Given the description of an element on the screen output the (x, y) to click on. 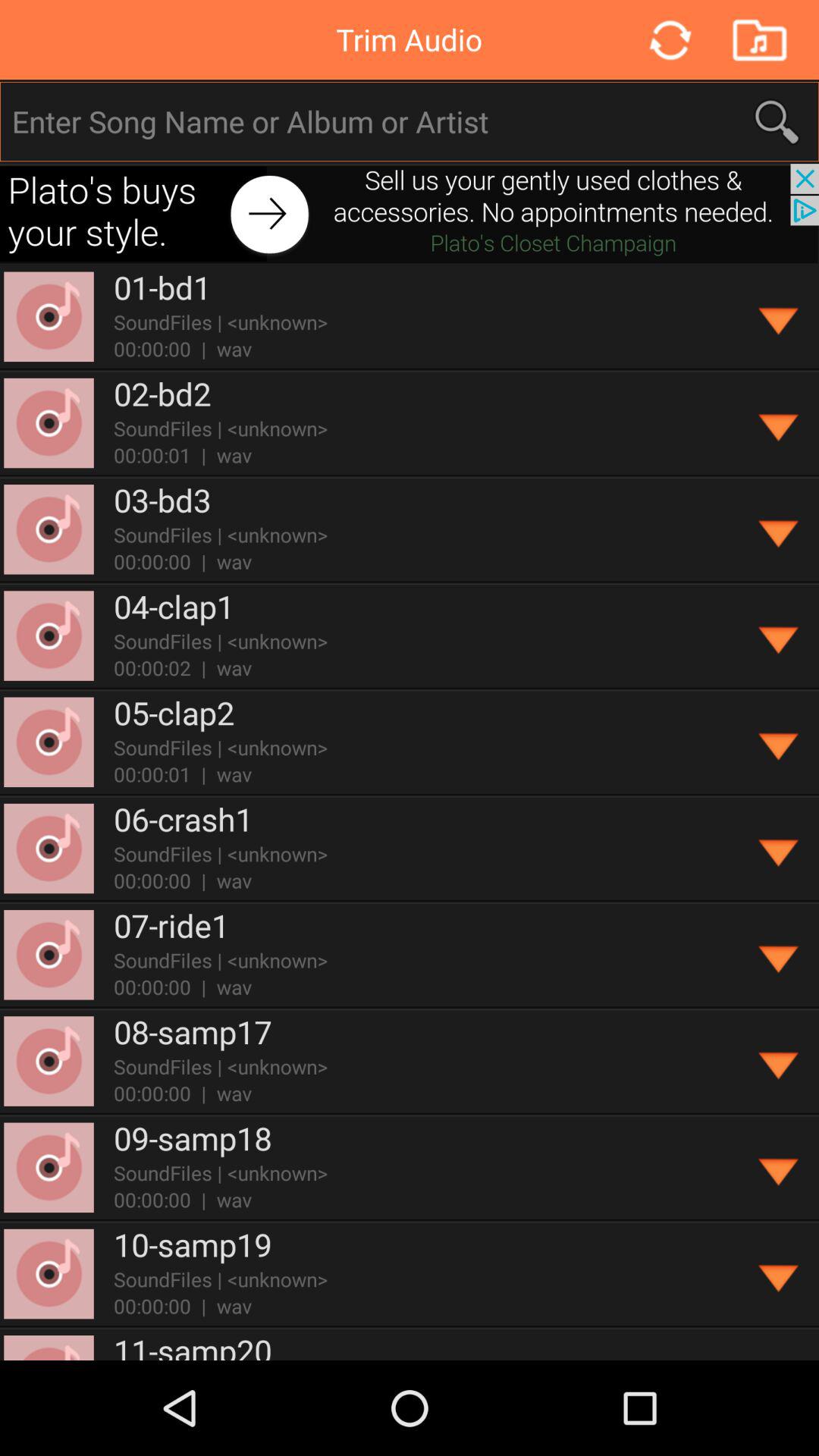
refresh page (669, 39)
